Given the description of an element on the screen output the (x, y) to click on. 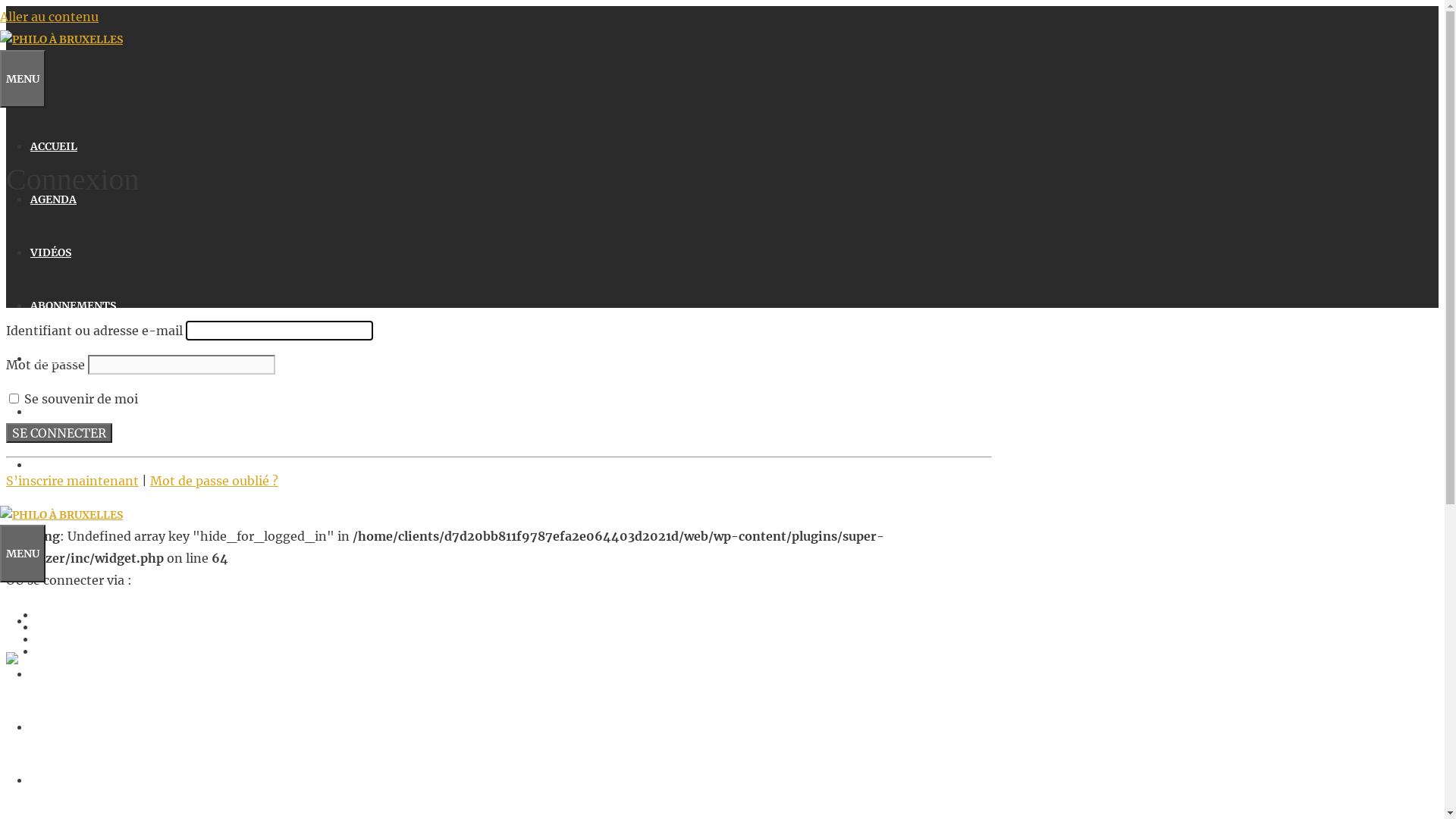
ABONNEMENTS Element type: text (73, 780)
MENU Element type: text (22, 78)
CONTACT Element type: text (56, 358)
AGENDA Element type: text (53, 673)
ACCUEIL Element type: text (53, 146)
contact@philo.brussels Element type: text (68, 755)
Aller au contenu Element type: text (49, 16)
AGENDA Element type: text (53, 199)
MENU Element type: text (22, 553)
+32 (0)479 50 05 71 Element type: text (56, 736)
MON COMPTE Element type: text (67, 464)
SE CONNECTER Element type: text (71, 411)
Se connecter Element type: text (59, 432)
ACCUEIL Element type: text (53, 620)
ABONNEMENTS Element type: text (73, 305)
